Given the description of an element on the screen output the (x, y) to click on. 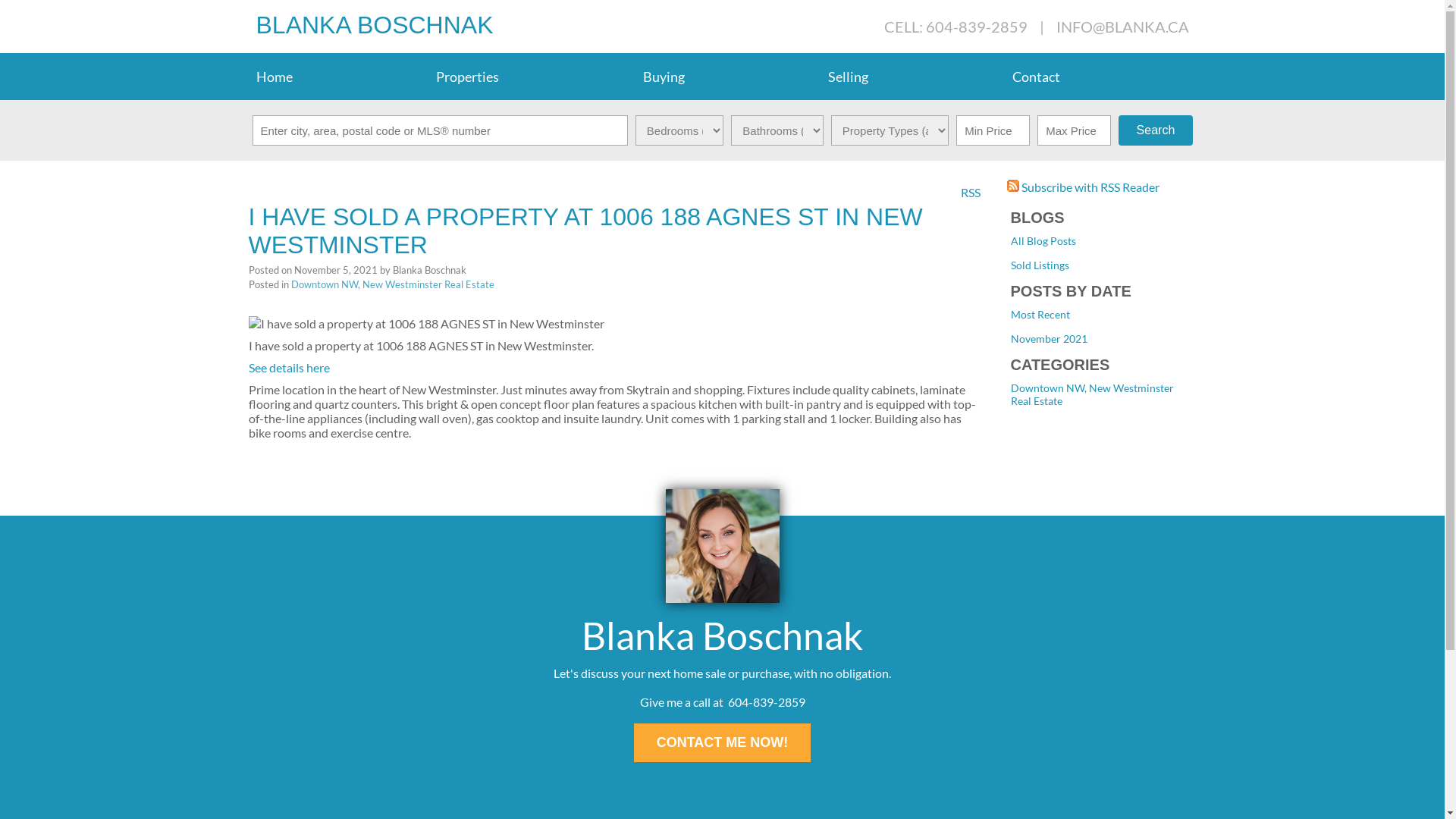
CONTACT ME NOW! Element type: text (722, 742)
All Blog Posts Element type: text (1042, 240)
Subscribe with RSS Reader Element type: text (1083, 186)
Most Recent Element type: text (1039, 313)
See details here Element type: text (288, 367)
Selling Element type: text (912, 76)
Contact Element type: text (1100, 76)
Home Element type: text (338, 76)
RSS Element type: text (970, 190)
Search Element type: text (1155, 130)
Downtown NW, New Westminster Real Estate Element type: text (392, 284)
Buying Element type: text (728, 76)
INFO@BLANKA.CA Element type: text (1121, 25)
November 2021 Element type: text (1048, 338)
Downtown NW, New Westminster Real Estate Element type: text (1091, 394)
Properties Element type: text (531, 76)
Sold Listings Element type: text (1039, 264)
